Given the description of an element on the screen output the (x, y) to click on. 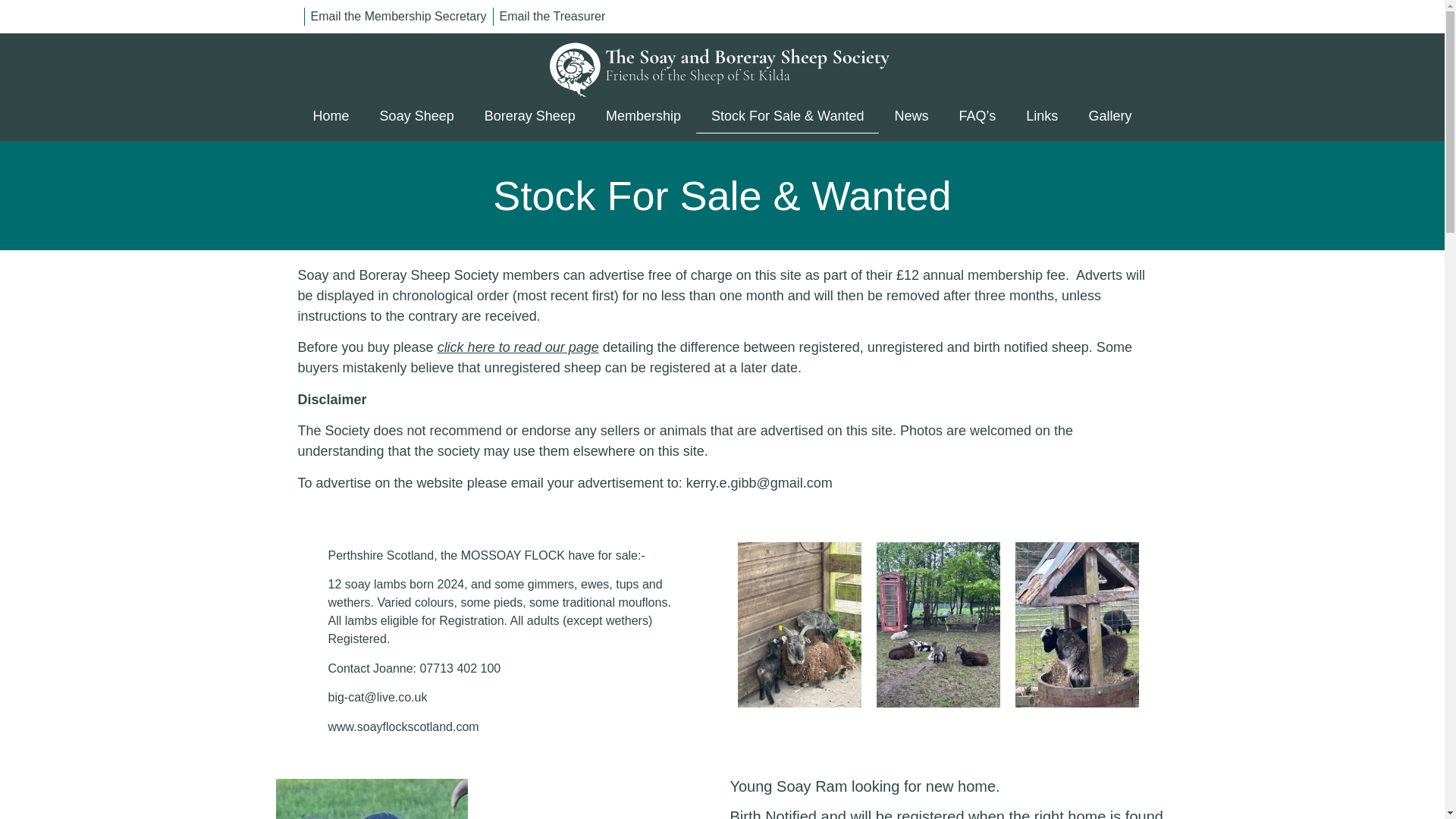
click here to read our page (518, 346)
Links (1041, 115)
www.soayflockscotland.com (403, 726)
Gallery (1110, 115)
Email the Membership Secretary (398, 16)
Boreray Sheep (529, 115)
Soay Sheep (416, 115)
kerry (700, 482)
Home (330, 115)
Email the Treasurer (552, 16)
